Given the description of an element on the screen output the (x, y) to click on. 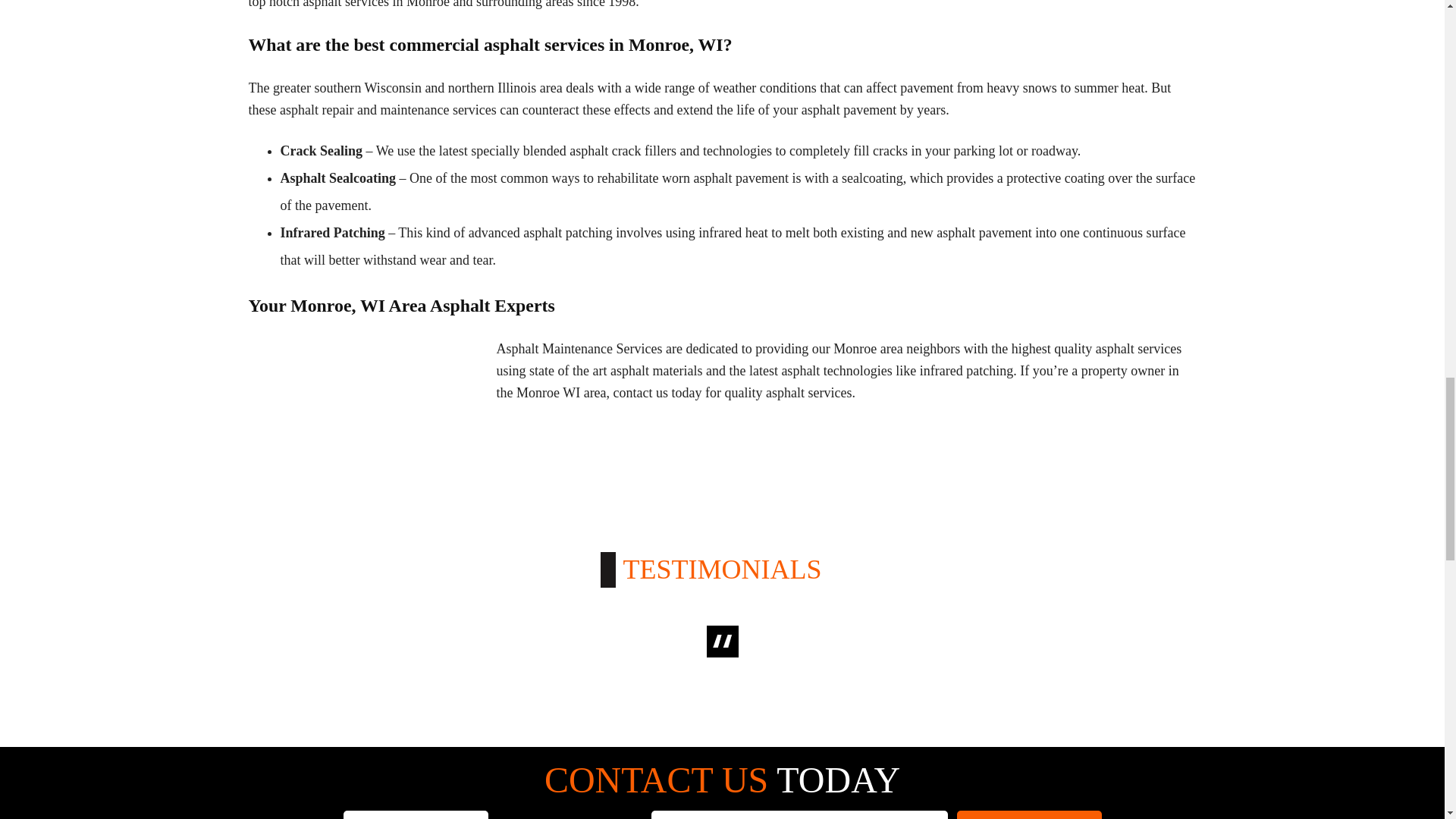
Submit (1029, 814)
Submit (1029, 814)
